Given the description of an element on the screen output the (x, y) to click on. 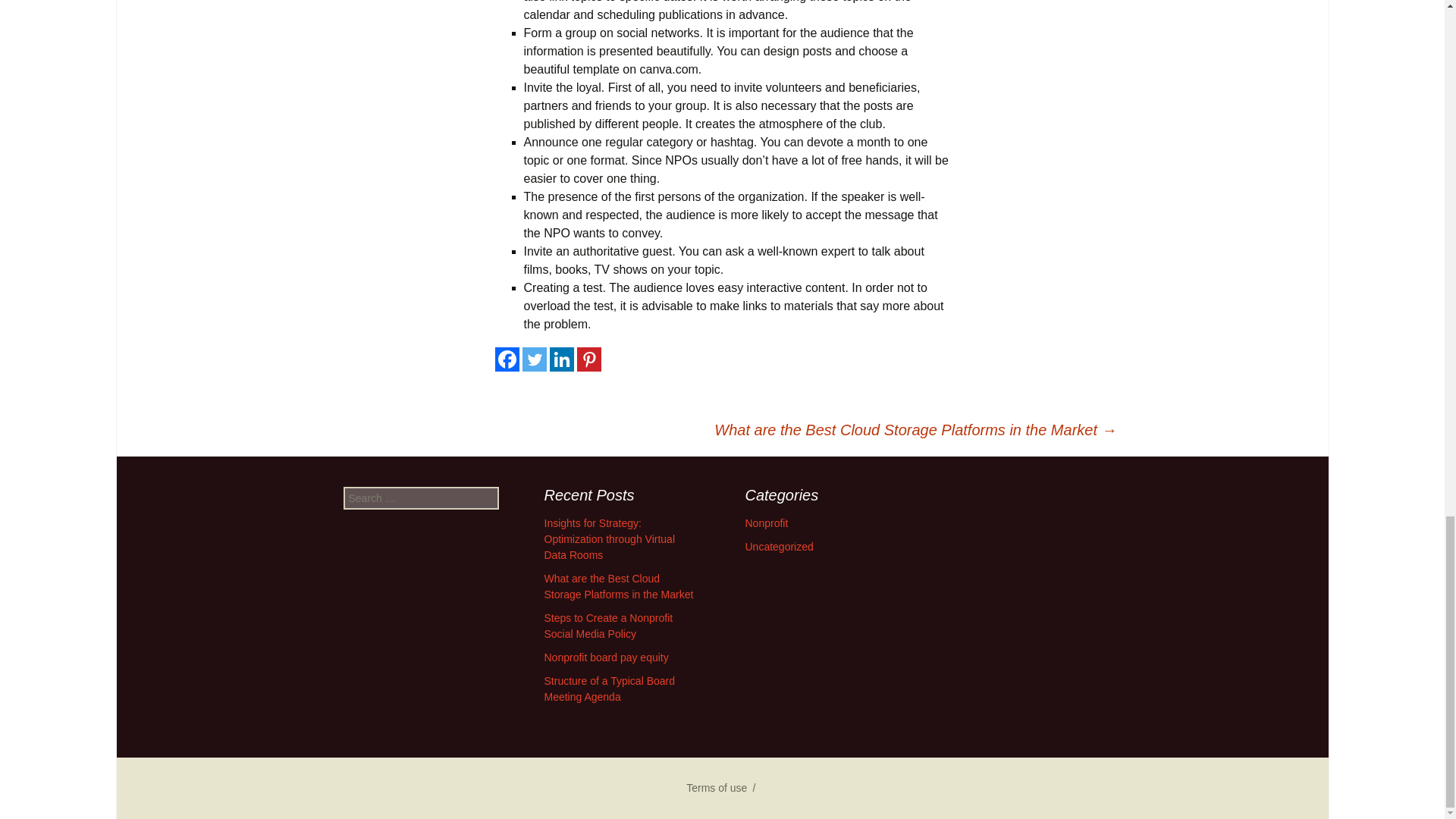
What are the Best Cloud Storage Platforms in the Market (619, 586)
Structure of a Typical Board Meeting Agenda (609, 688)
Nonprofit board pay equity (606, 657)
Facebook (506, 359)
Twitter (533, 359)
Terms of use (715, 787)
Uncategorized (778, 546)
Pinterest (587, 359)
Linkedin (560, 359)
